Given the description of an element on the screen output the (x, y) to click on. 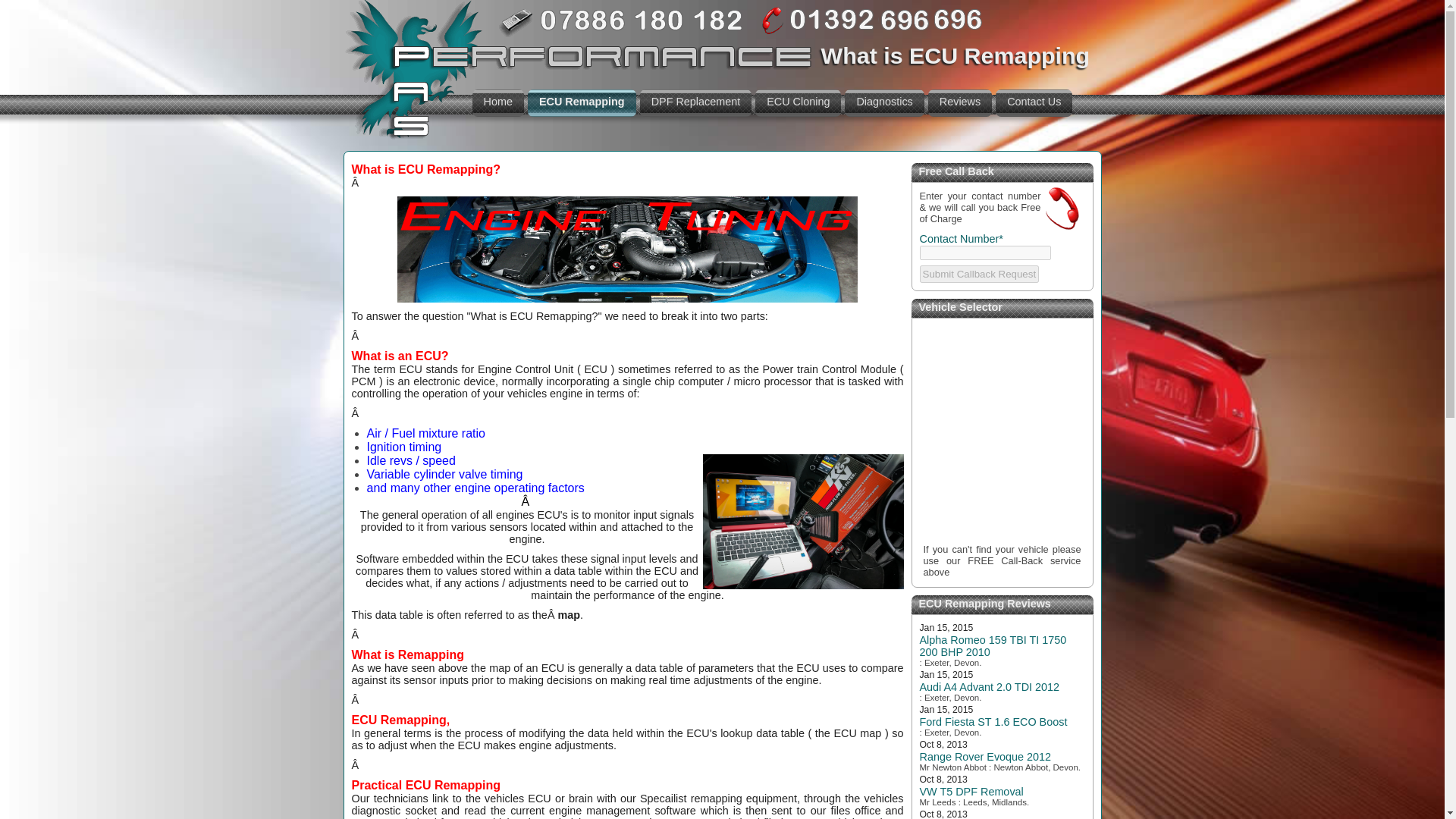
DPF Replacement (696, 103)
ECU Cloning (798, 103)
Reviews (959, 103)
Submit Callback Request (978, 273)
Ford Fiesta ST 1.6 ECO Boost (992, 721)
Contact Us (1033, 103)
Home (496, 103)
Submit Callback Request (978, 273)
Audi A4 Advant 2.0 TDI 2012 (988, 686)
VW T5 DPF Removal (970, 791)
